Given the description of an element on the screen output the (x, y) to click on. 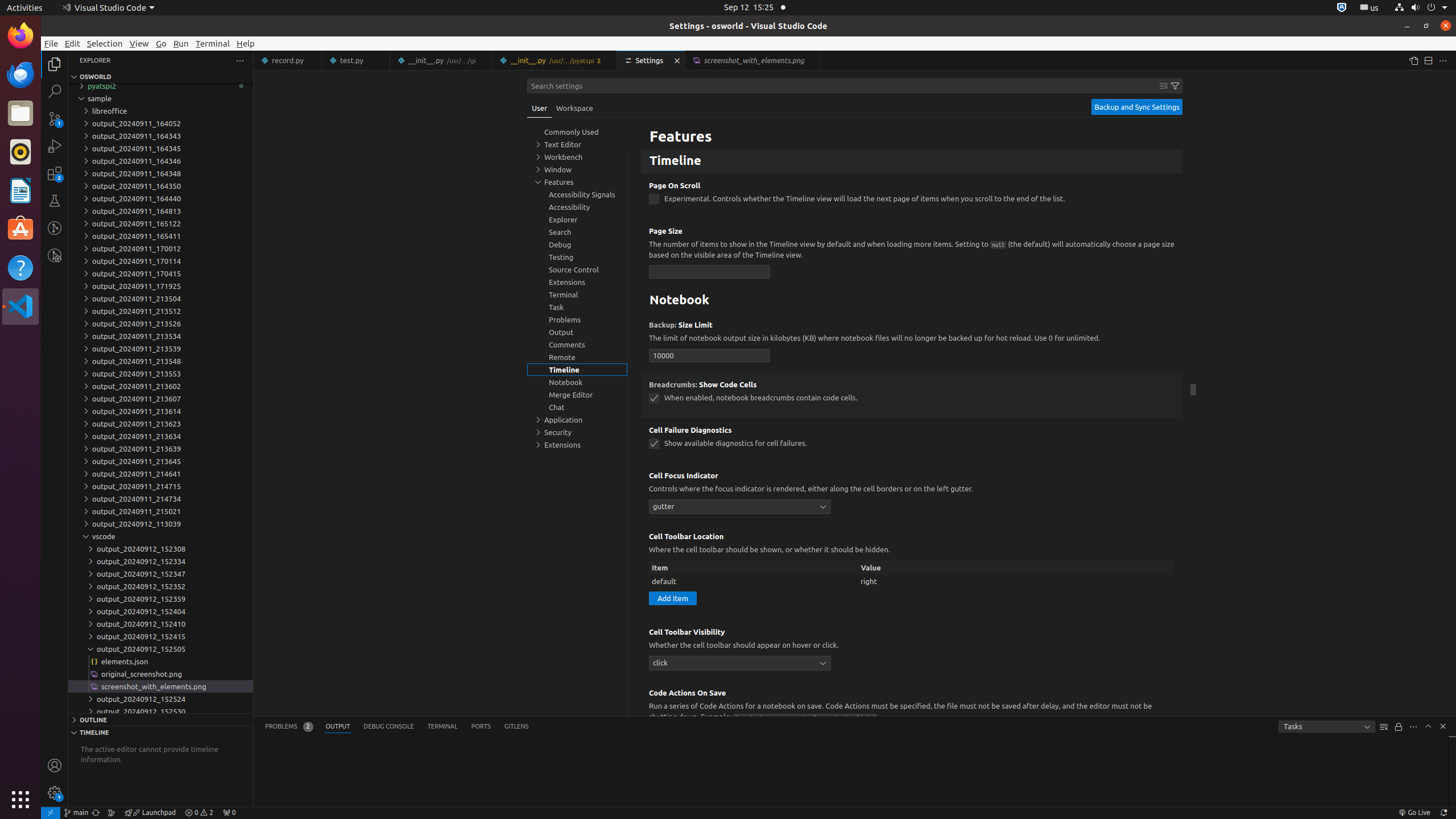
output_20240912_152524 Element type: tree-item (160, 698)
Clear Settings Search Input Element type: push-button (1163, 85)
More Actions... (Shift+F9) Element type: push-button (634, 691)
